Given the description of an element on the screen output the (x, y) to click on. 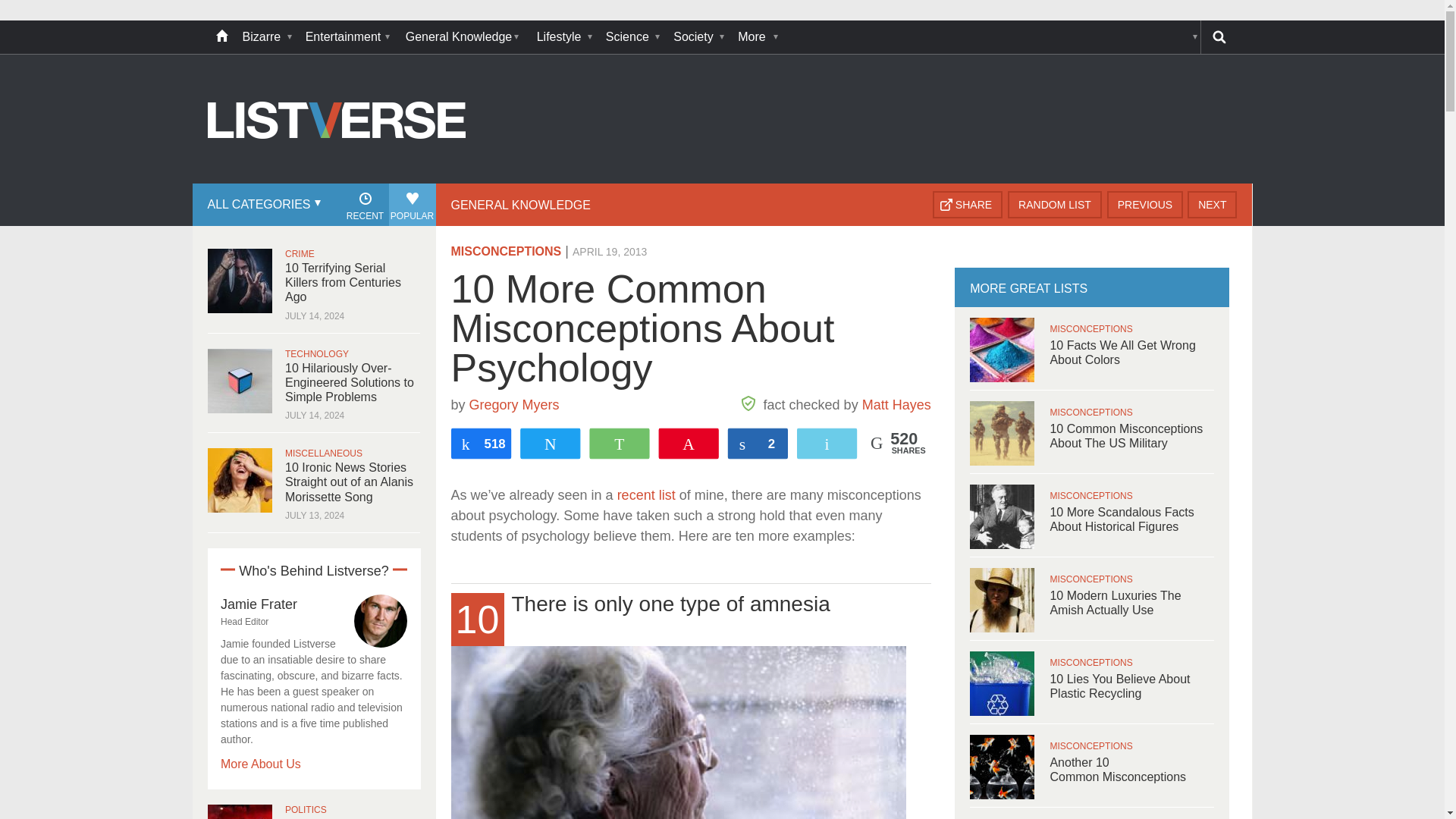
General Knowledge (462, 37)
Bizarre (266, 37)
All Categories (262, 204)
Share (968, 204)
Lifestyle (563, 37)
Popular (411, 204)
Recent (364, 204)
Entertainment (347, 37)
Society (697, 37)
Science (631, 37)
Go Home (221, 37)
Go to Home (336, 181)
More (756, 37)
